Given the description of an element on the screen output the (x, y) to click on. 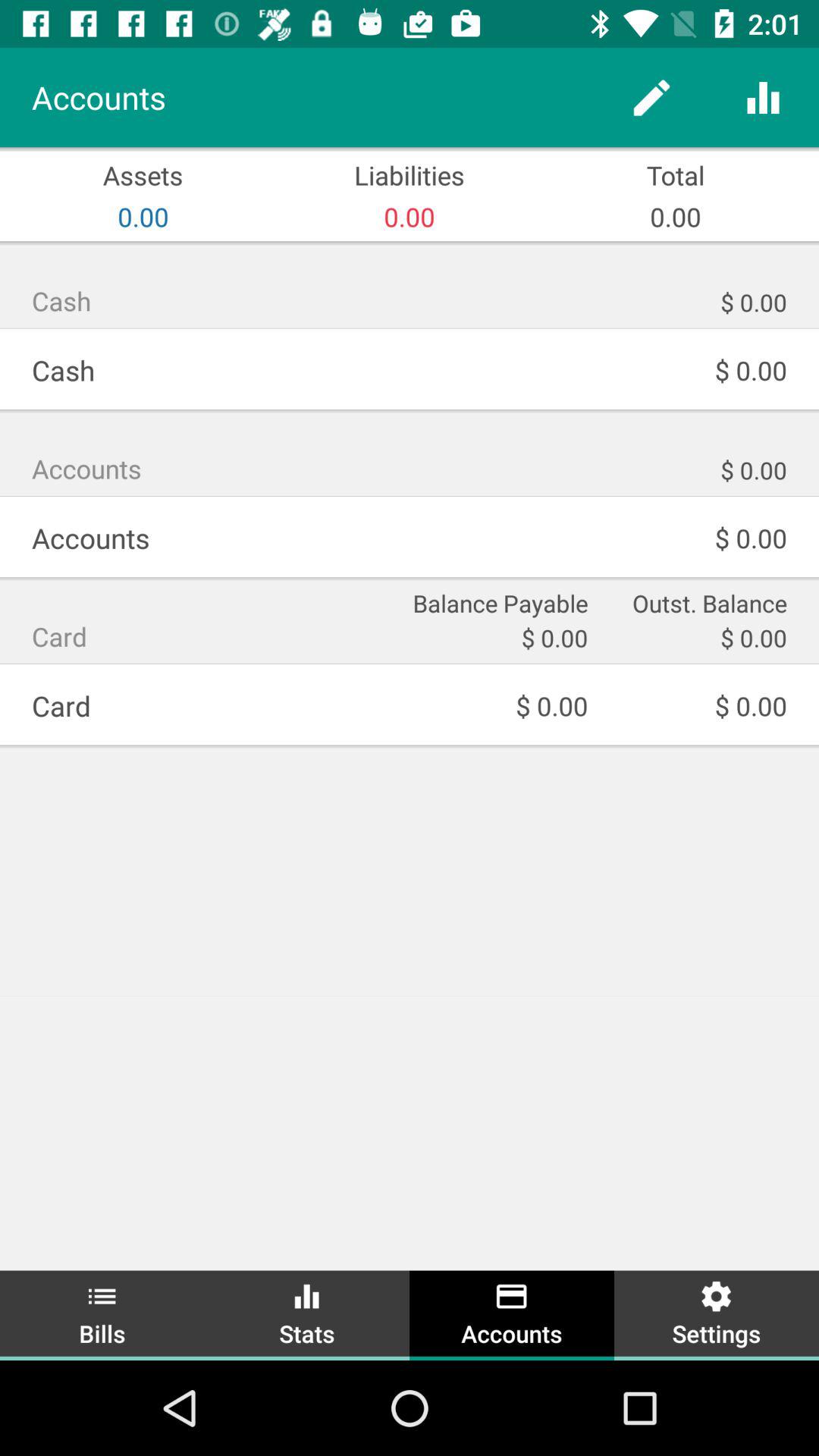
tap icon next to the bills item (306, 1313)
